Given the description of an element on the screen output the (x, y) to click on. 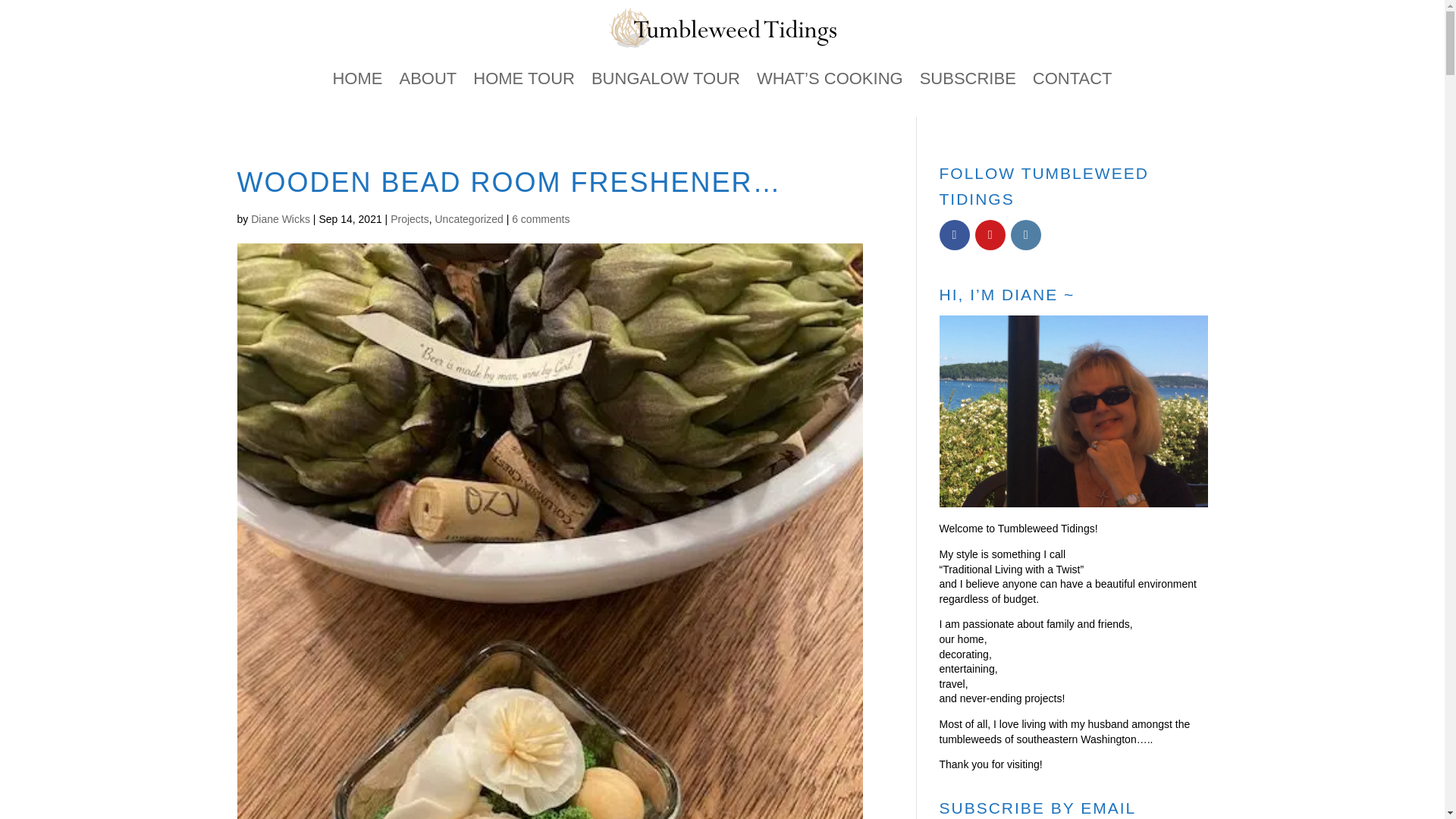
Uncategorized (467, 218)
BUNGALOW TOUR (665, 78)
ABOUT (427, 78)
CONTACT (1072, 78)
HOME TOUR (524, 78)
SUBSCRIBE (968, 78)
6 comments (540, 218)
Diane Wicks (280, 218)
Projects (409, 218)
Posts by Diane Wicks (280, 218)
